Given the description of an element on the screen output the (x, y) to click on. 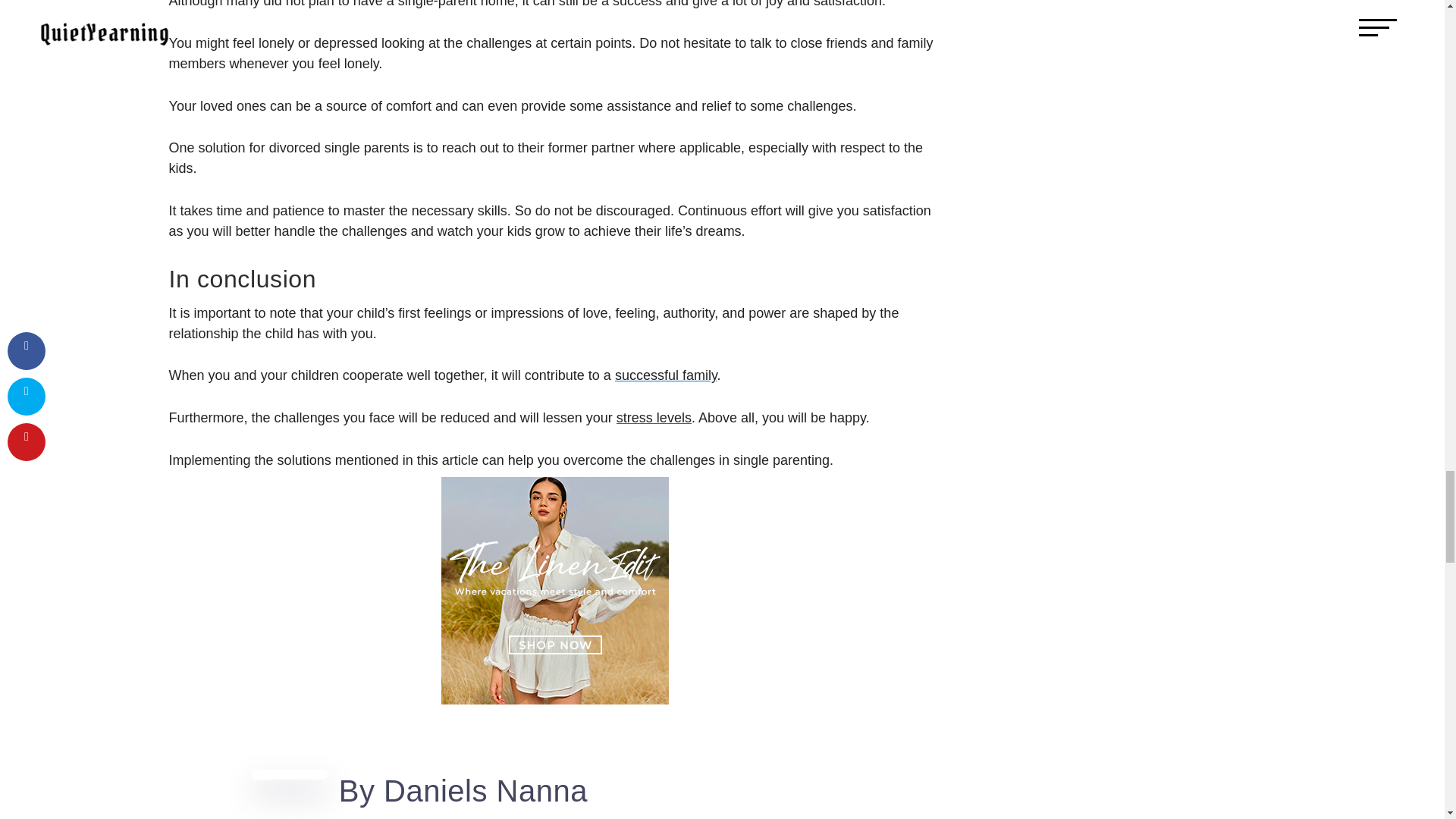
Daniels Nanna (486, 790)
stress levels (653, 417)
successful family (665, 375)
